Given the description of an element on the screen output the (x, y) to click on. 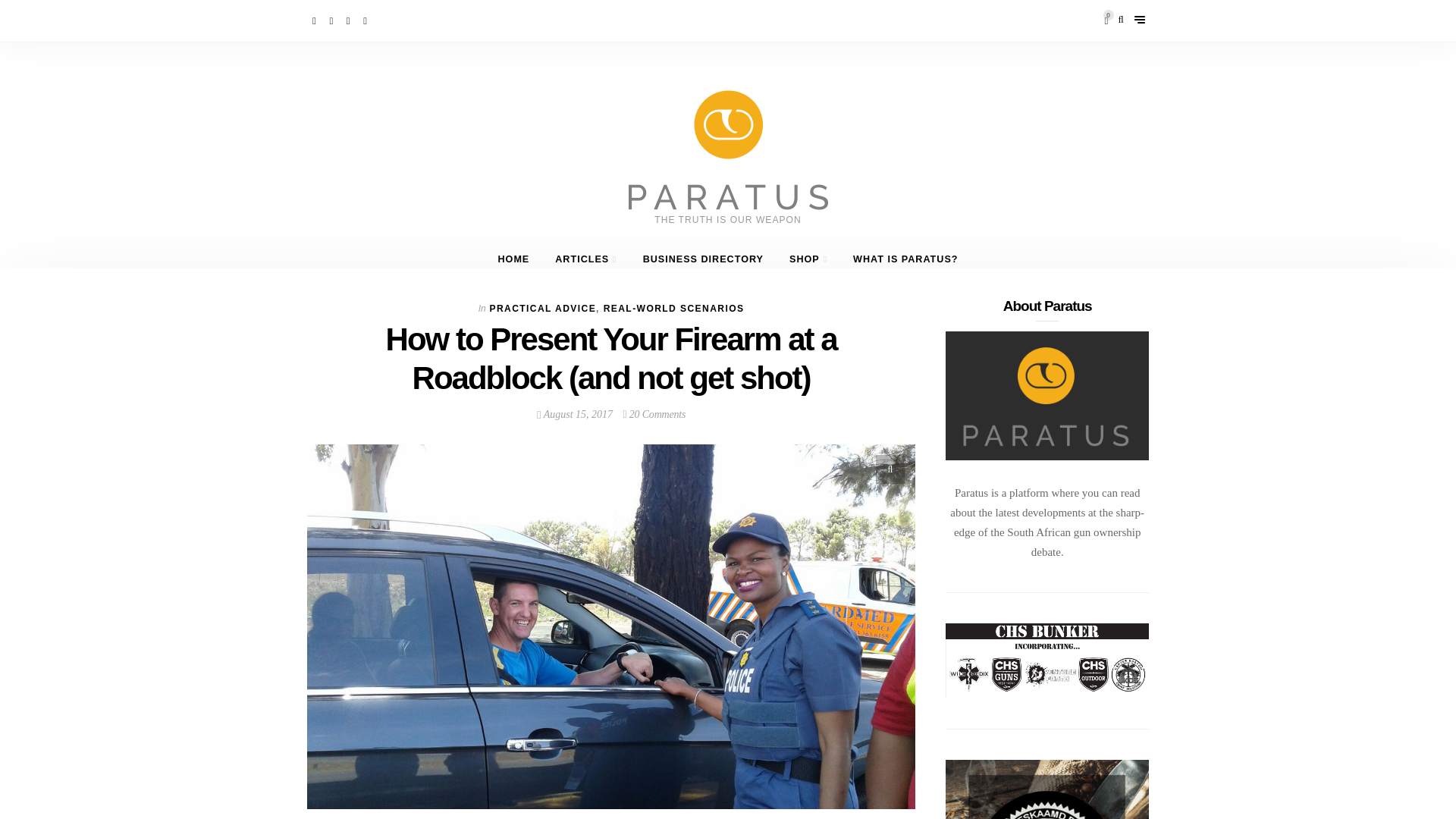
Facebook (315, 20)
Twitter (331, 20)
Instagram (366, 20)
THE TRUTH IS OUR WEAPON (727, 183)
Youtube (349, 20)
ARTICLES (584, 259)
HOME (512, 259)
